Given the description of an element on the screen output the (x, y) to click on. 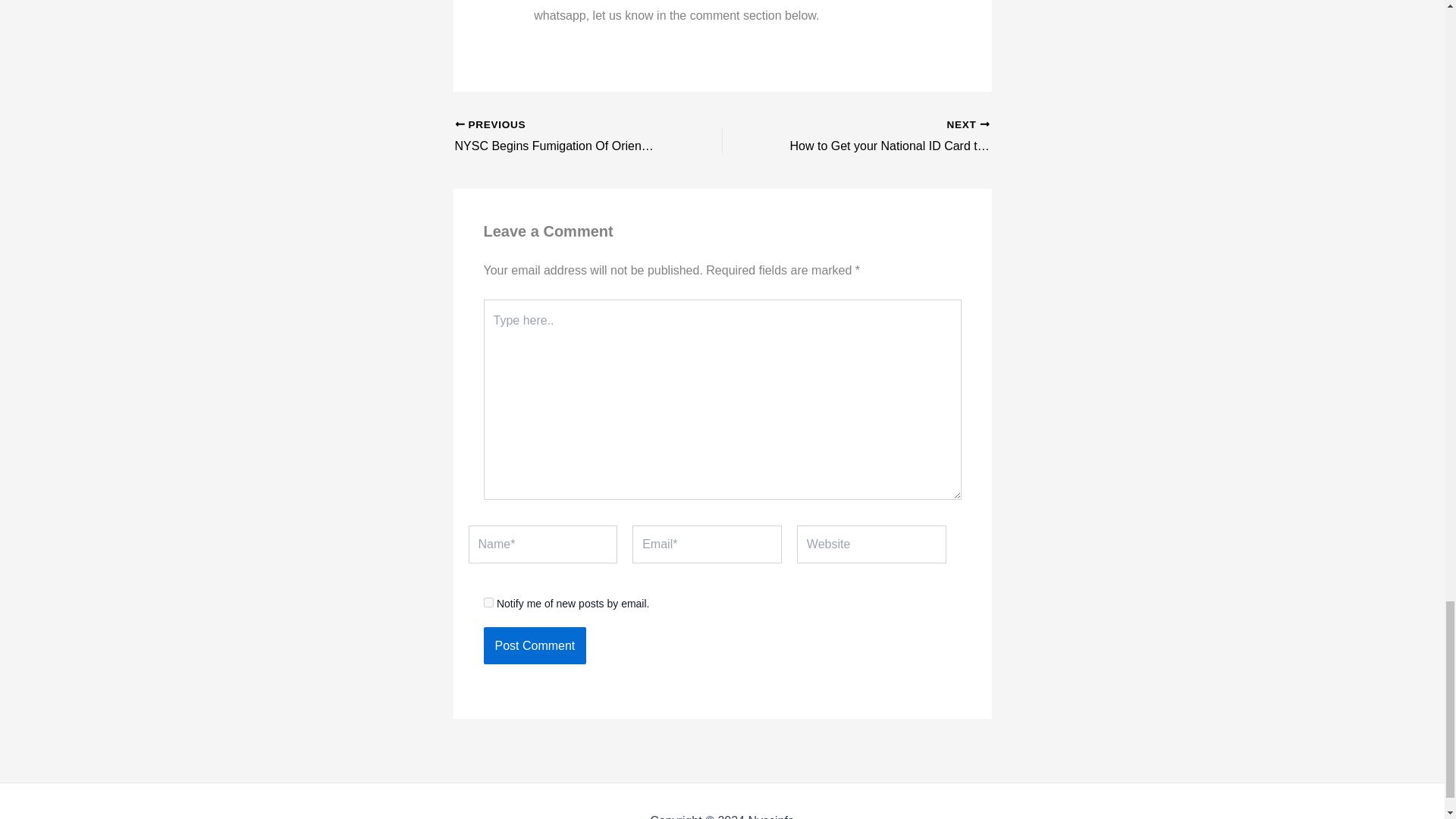
Post Comment (534, 646)
subscribe (488, 602)
